Given the description of an element on the screen output the (x, y) to click on. 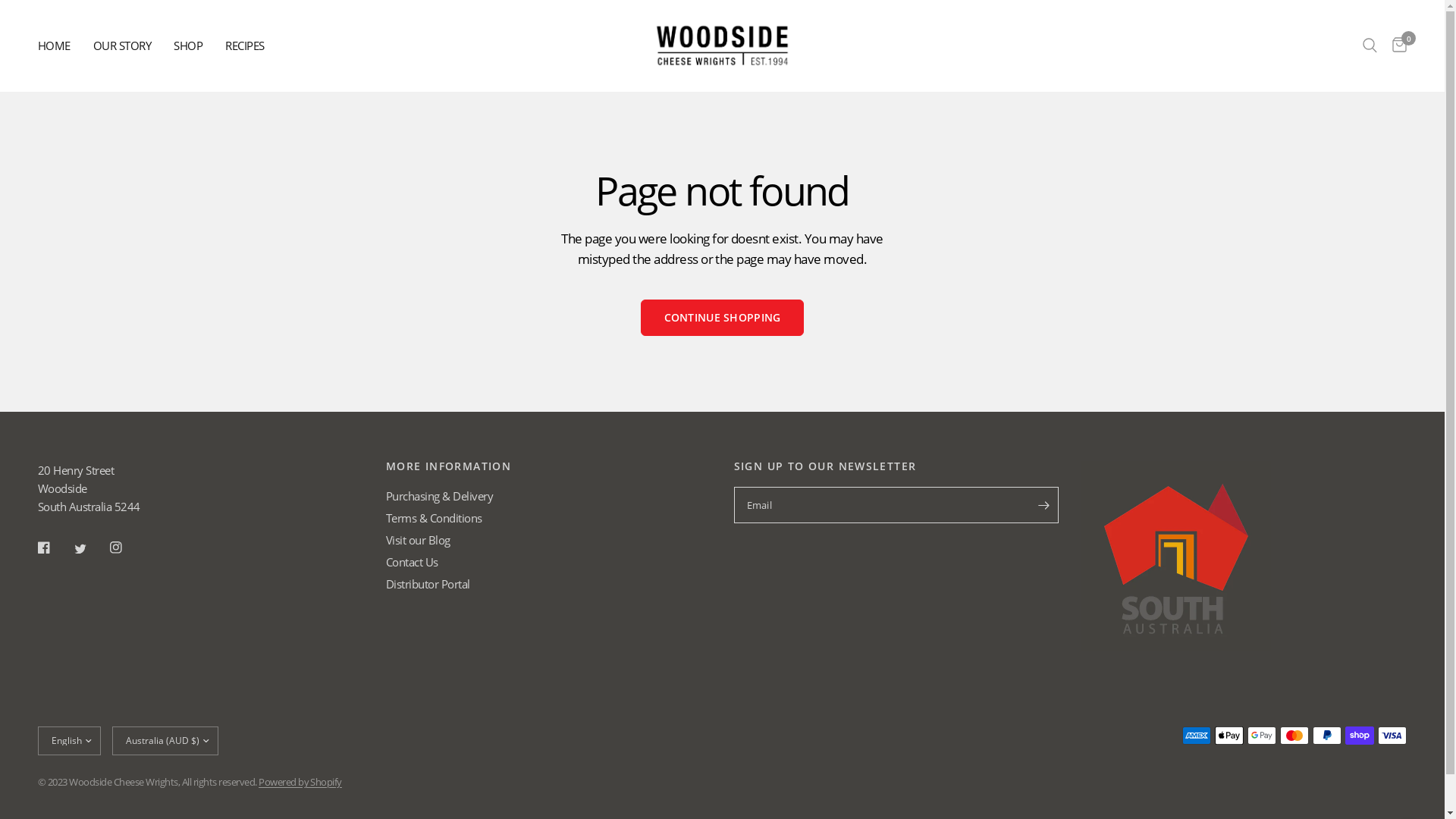
RECIPES Element type: text (244, 45)
Twitter Element type: hover (90, 548)
Powered by Shopify Element type: text (300, 781)
Instagram Element type: hover (126, 547)
Facebook Element type: hover (54, 547)
MORE INFORMATION Element type: text (548, 466)
Visit our Blog Element type: text (417, 539)
0 Element type: text (1395, 45)
OUR STORY Element type: text (121, 45)
Terms & Conditions Element type: text (433, 517)
CONTINUE SHOPPING Element type: text (722, 317)
SHOP Element type: text (187, 45)
Purchasing & Delivery Element type: text (438, 495)
Contact Us Element type: text (411, 561)
Search Element type: hover (1369, 45)
xxx@xxx.xxx Element type: hover (896, 504)
HOME Element type: text (53, 45)
Distributor Portal Element type: text (427, 583)
